Given the description of an element on the screen output the (x, y) to click on. 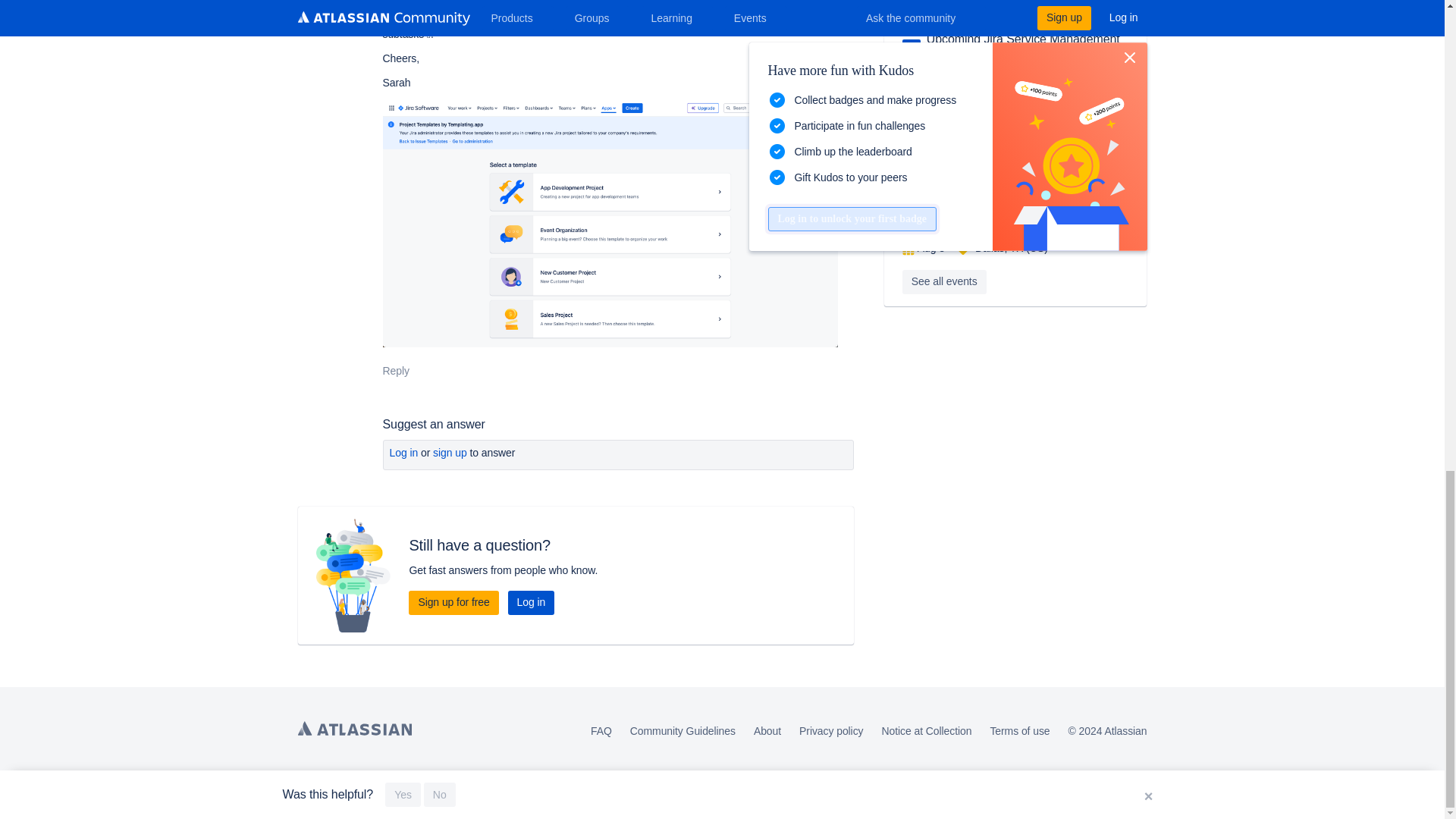
AUG Leaders (911, 48)
